Given the description of an element on the screen output the (x, y) to click on. 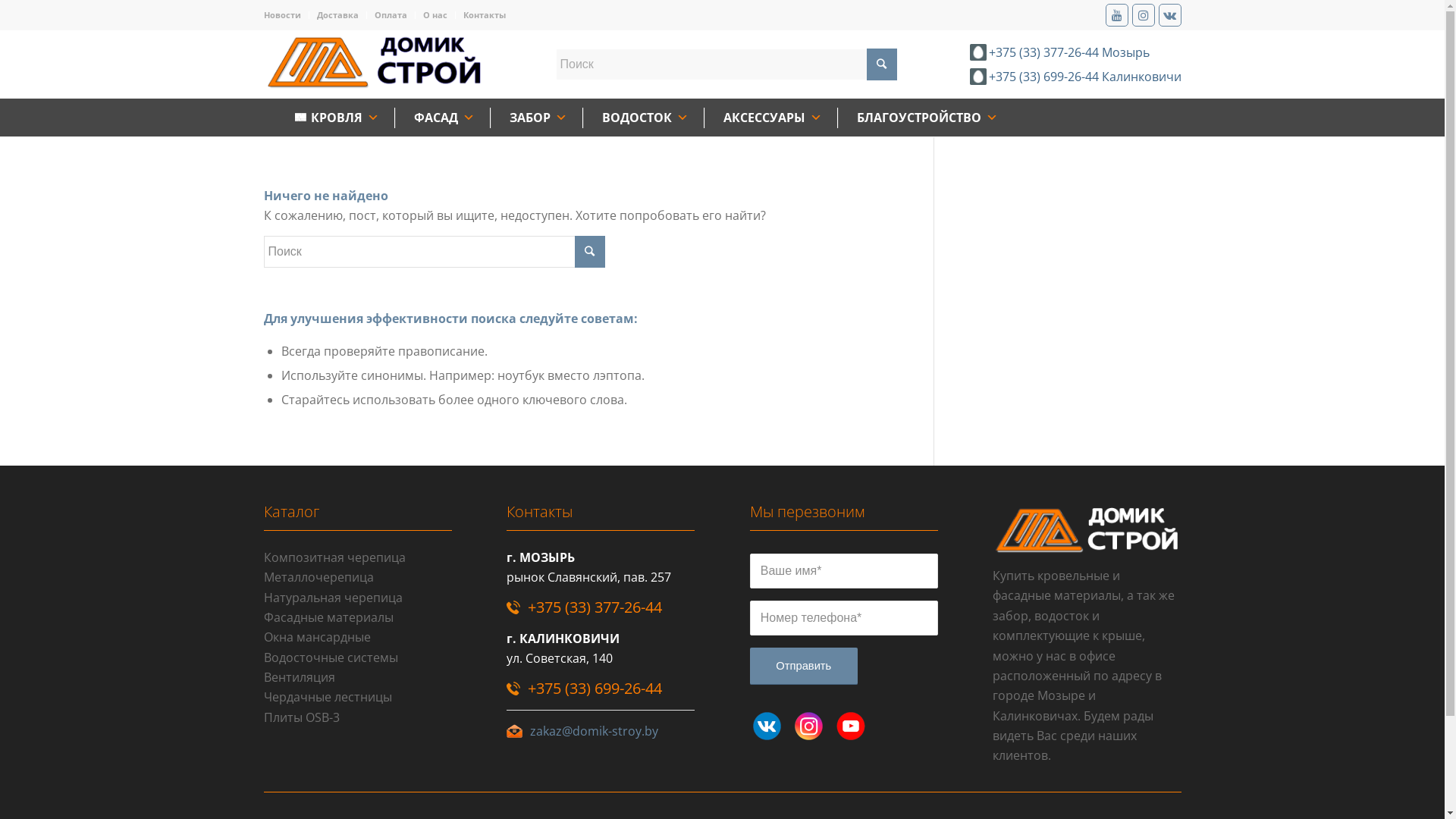
zakaz@domik-stroy.by Element type: text (594, 730)
+375 (33) 377-26-44 Element type: text (594, 606)
+375 (33) 699-26-44 Element type: text (594, 687)
logotip_domik-stroy-1-289x80-beliy Element type: hover (1086, 529)
